Given the description of an element on the screen output the (x, y) to click on. 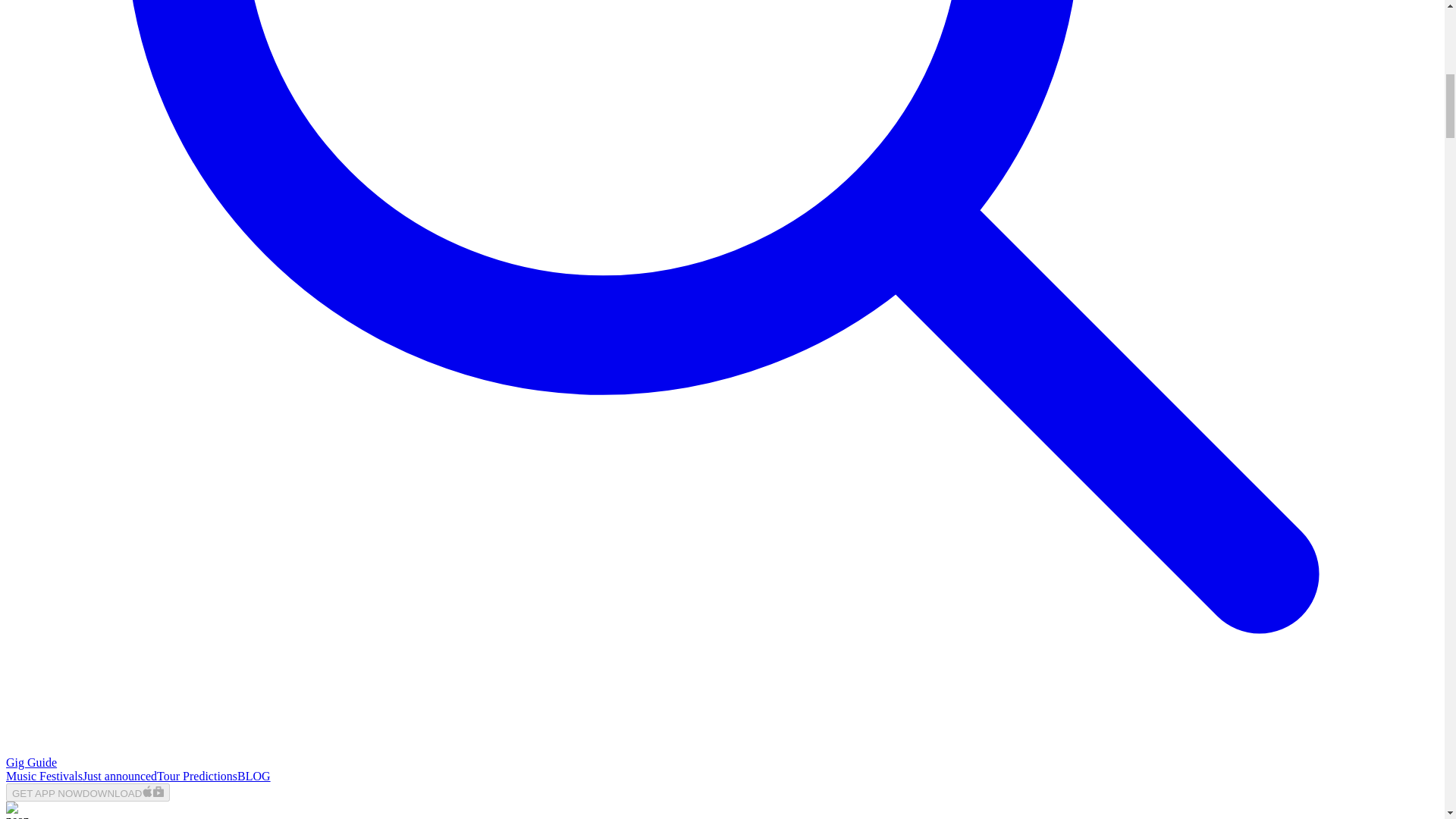
BLOG (253, 775)
Tour Predictions (197, 775)
GET APP NOWDOWNLOAD (87, 791)
Music Festivals (43, 775)
Gig Guide (30, 762)
Just announced (119, 775)
